Given the description of an element on the screen output the (x, y) to click on. 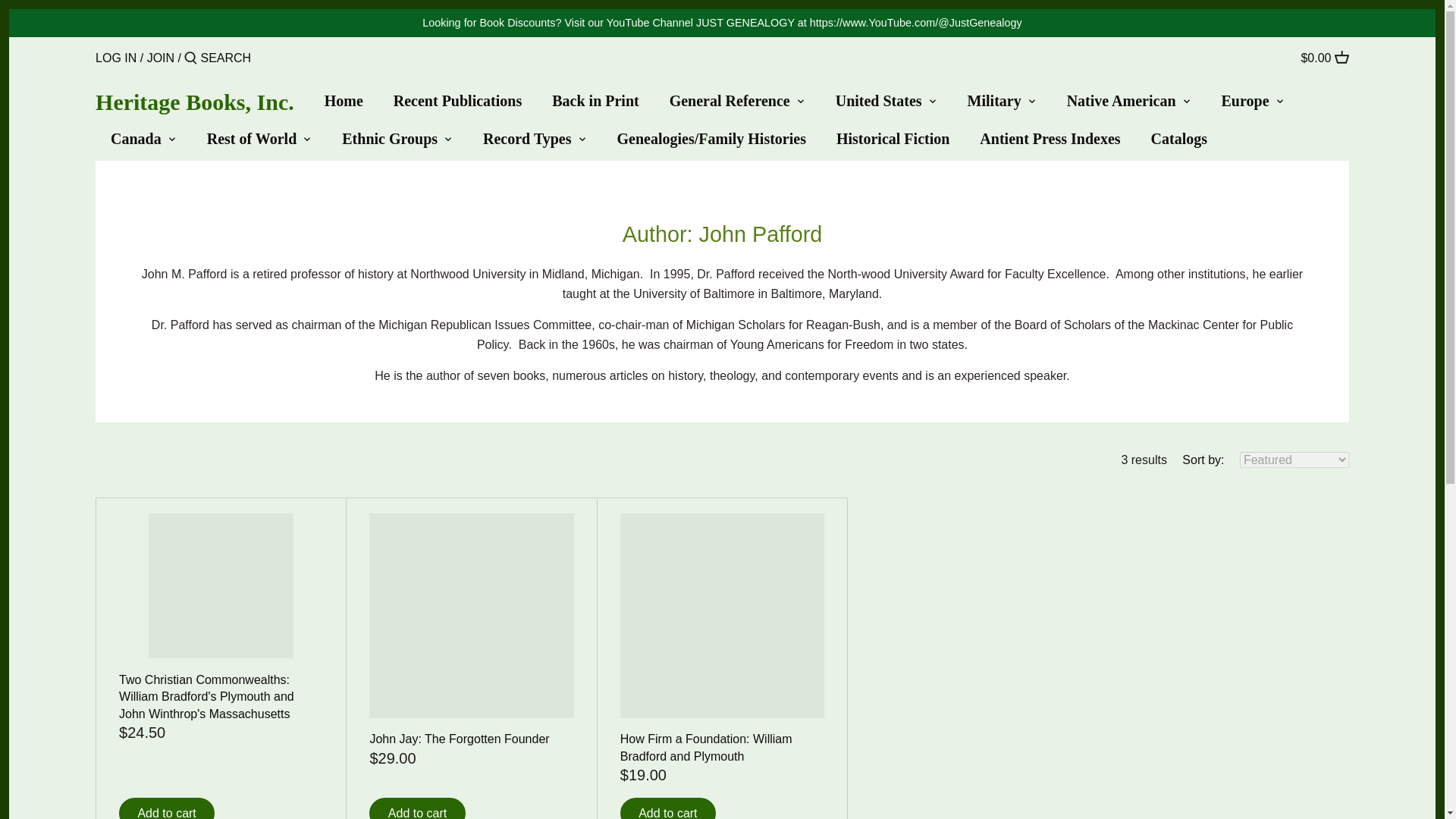
JOIN (160, 57)
Home (351, 103)
United States (879, 103)
Recent Publications (457, 103)
General Reference (729, 103)
Heritage Books, Inc. (195, 101)
LOG IN (116, 57)
Back in Print (595, 103)
